Given the description of an element on the screen output the (x, y) to click on. 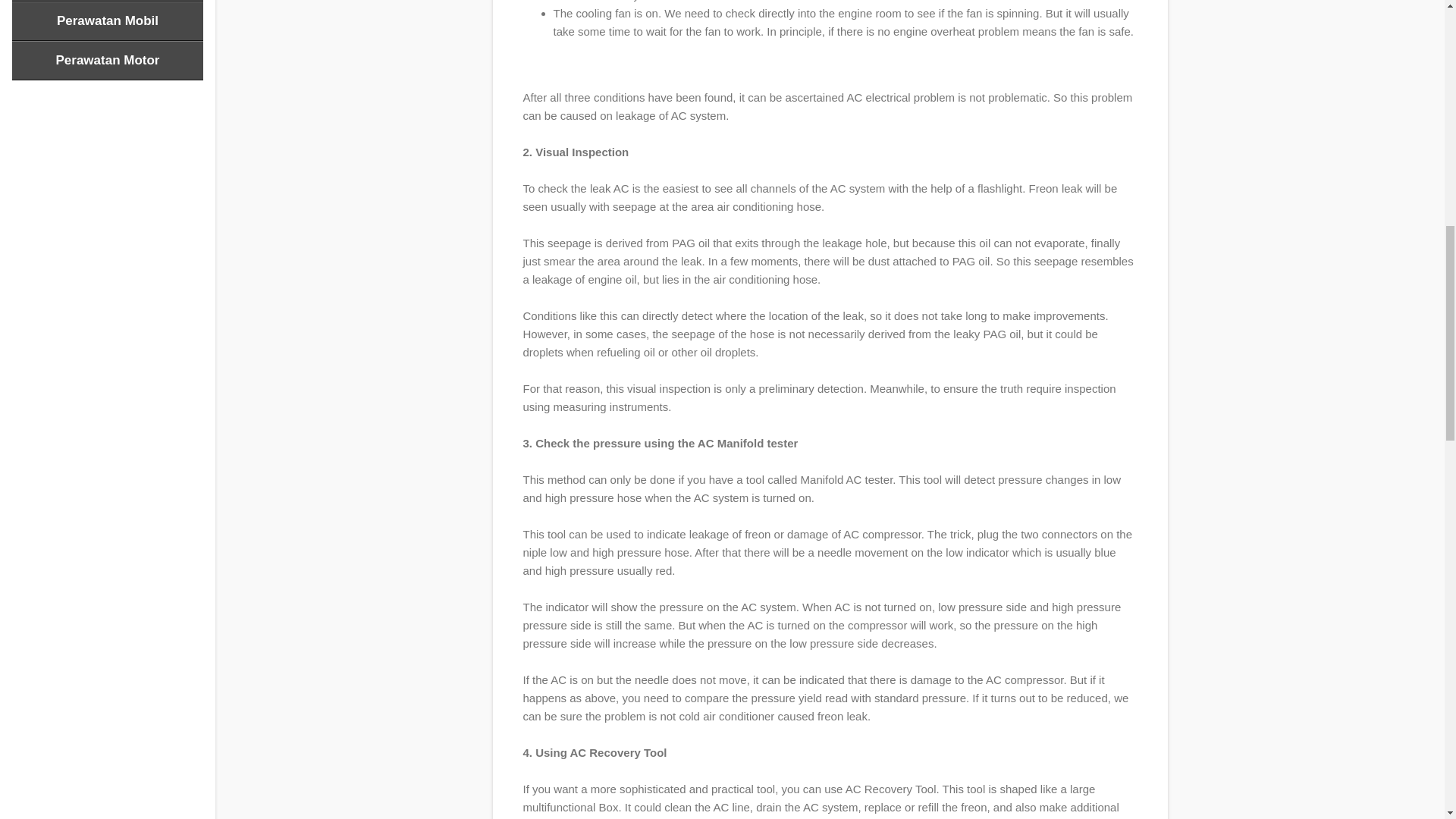
Perawatan Mobil (107, 21)
Perawatan Motor (107, 60)
